Given the description of an element on the screen output the (x, y) to click on. 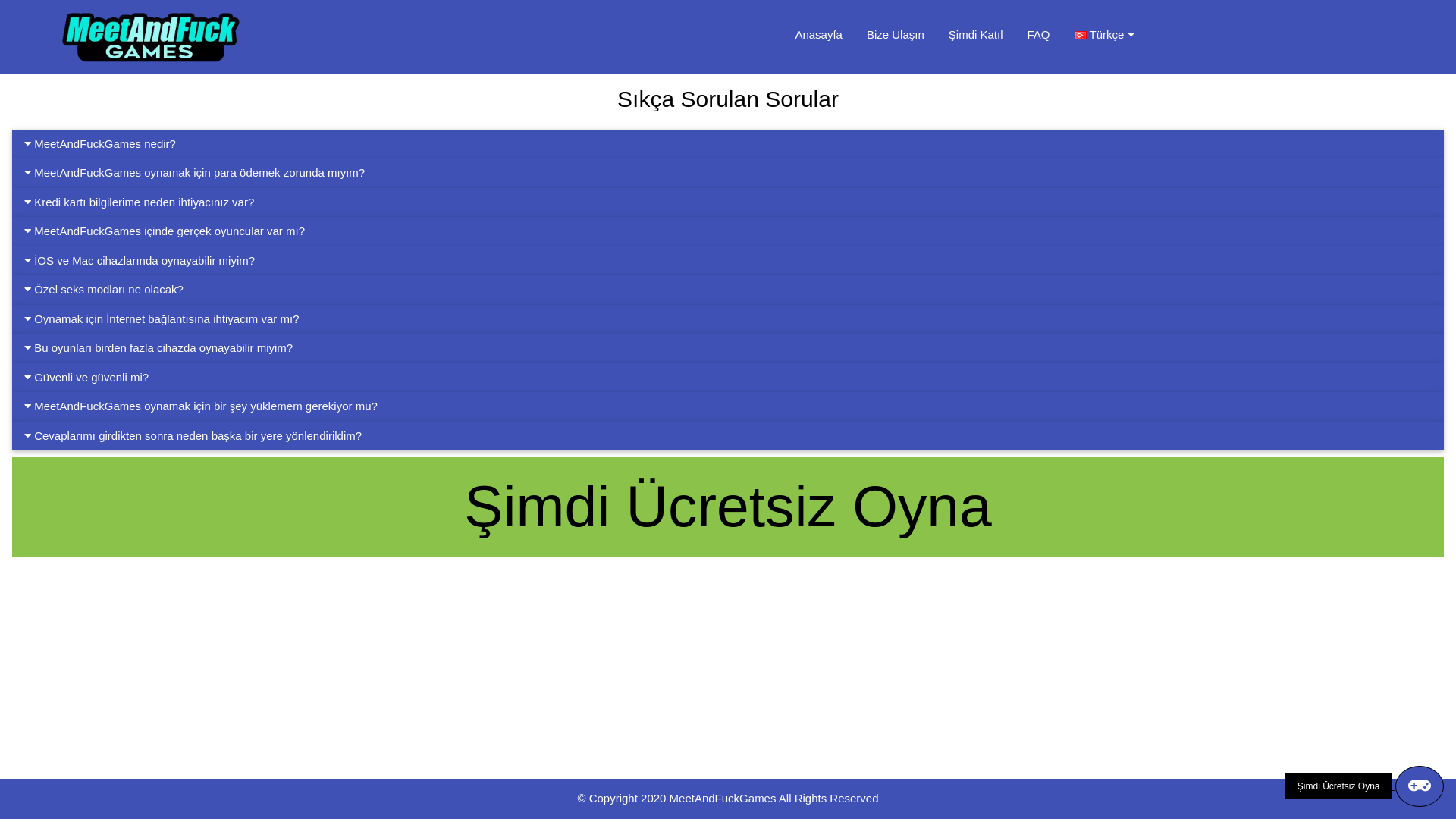
Anasayfa Element type: text (818, 35)
FAQ Element type: text (1038, 35)
MeetAndFuckGames nedir? Element type: text (727, 144)
